Given the description of an element on the screen output the (x, y) to click on. 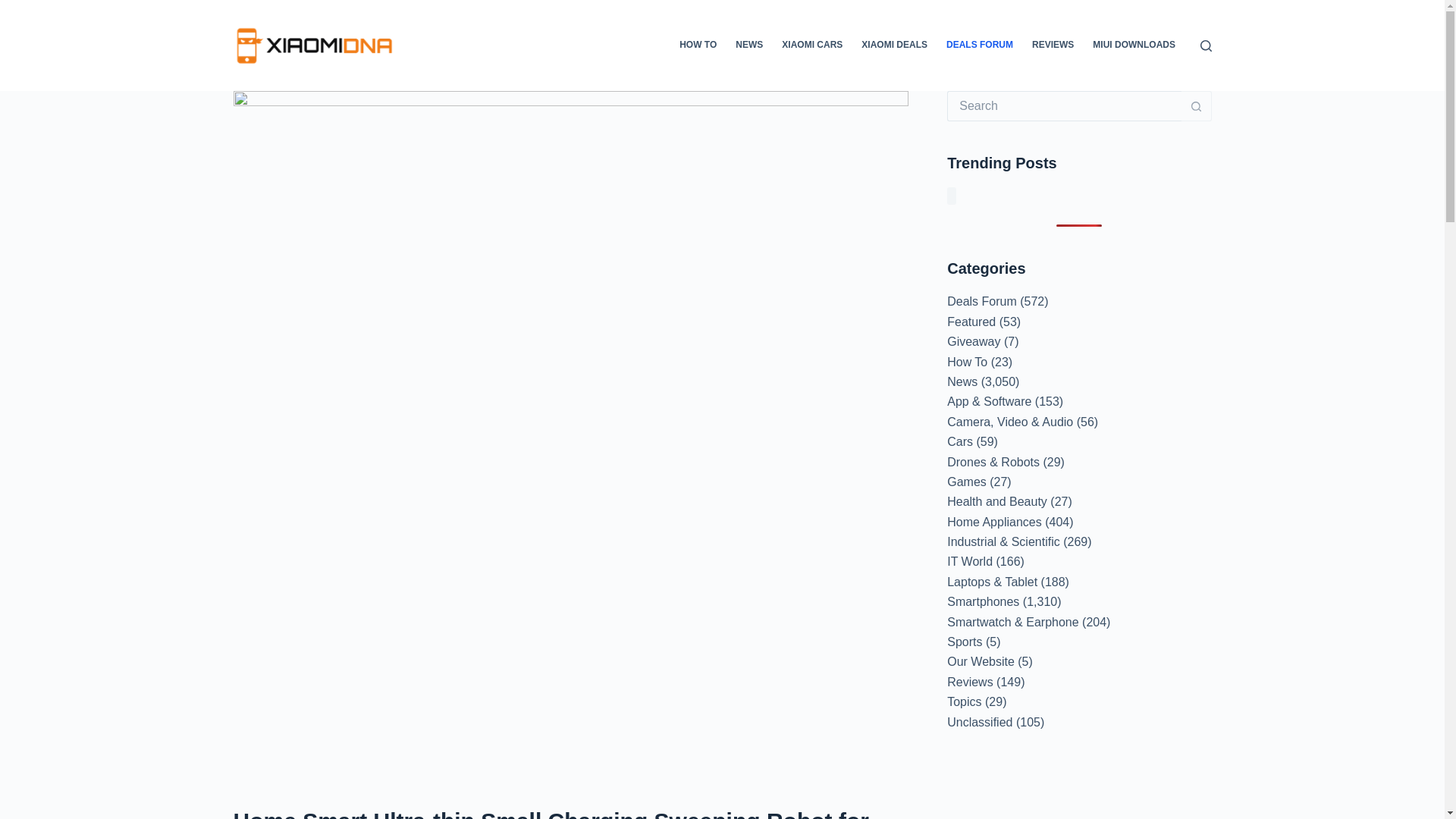
DEALS FORUM (980, 45)
How To (967, 361)
Skip to content (15, 7)
Deals Forum (981, 300)
Search for... (1063, 105)
Cars (959, 440)
XIAOMI DEALS (894, 45)
MIUI DOWNLOADS (1134, 45)
Giveaway (973, 341)
News (961, 381)
